Given the description of an element on the screen output the (x, y) to click on. 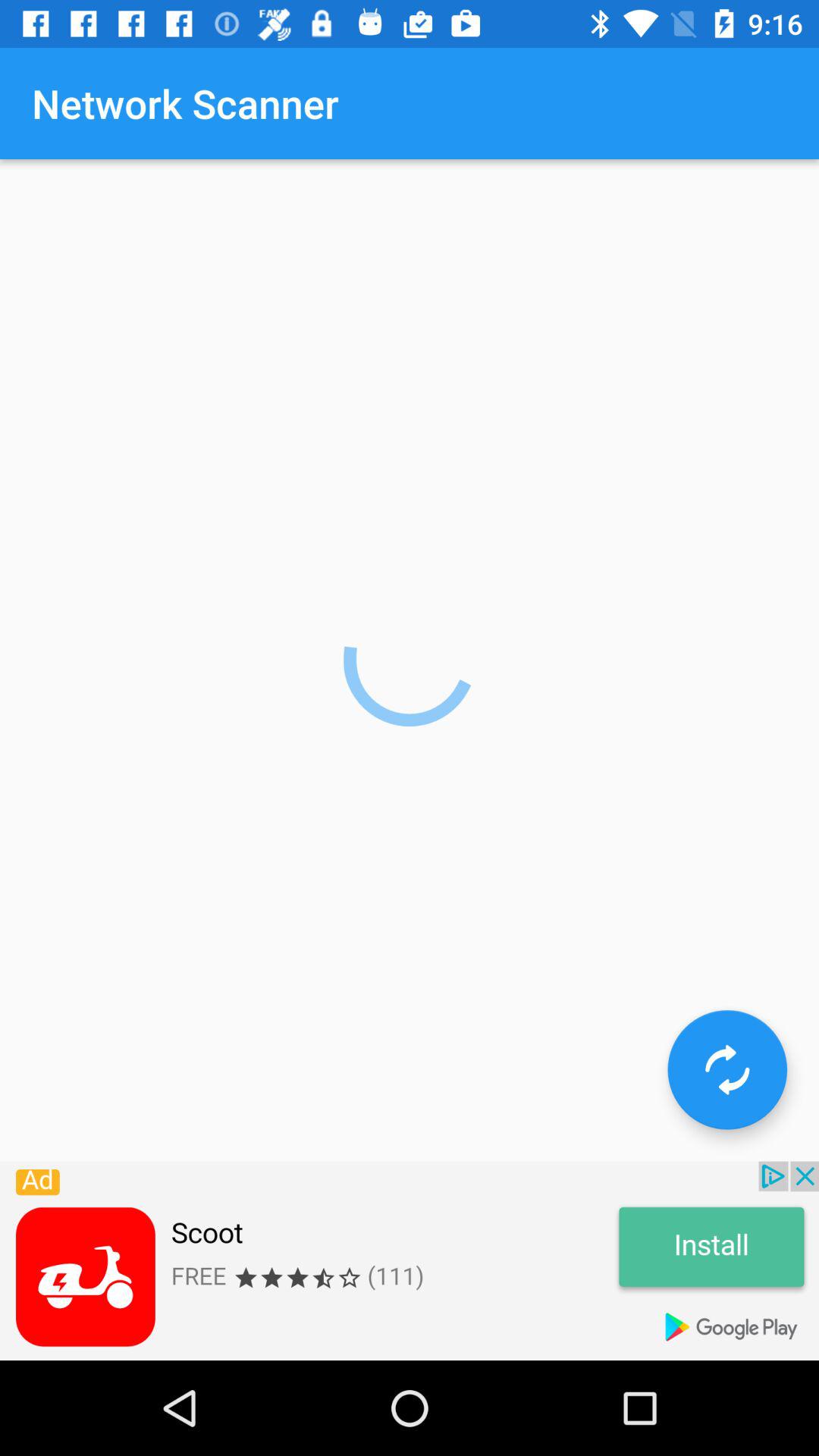
link to advertisement link (409, 1260)
